Given the description of an element on the screen output the (x, y) to click on. 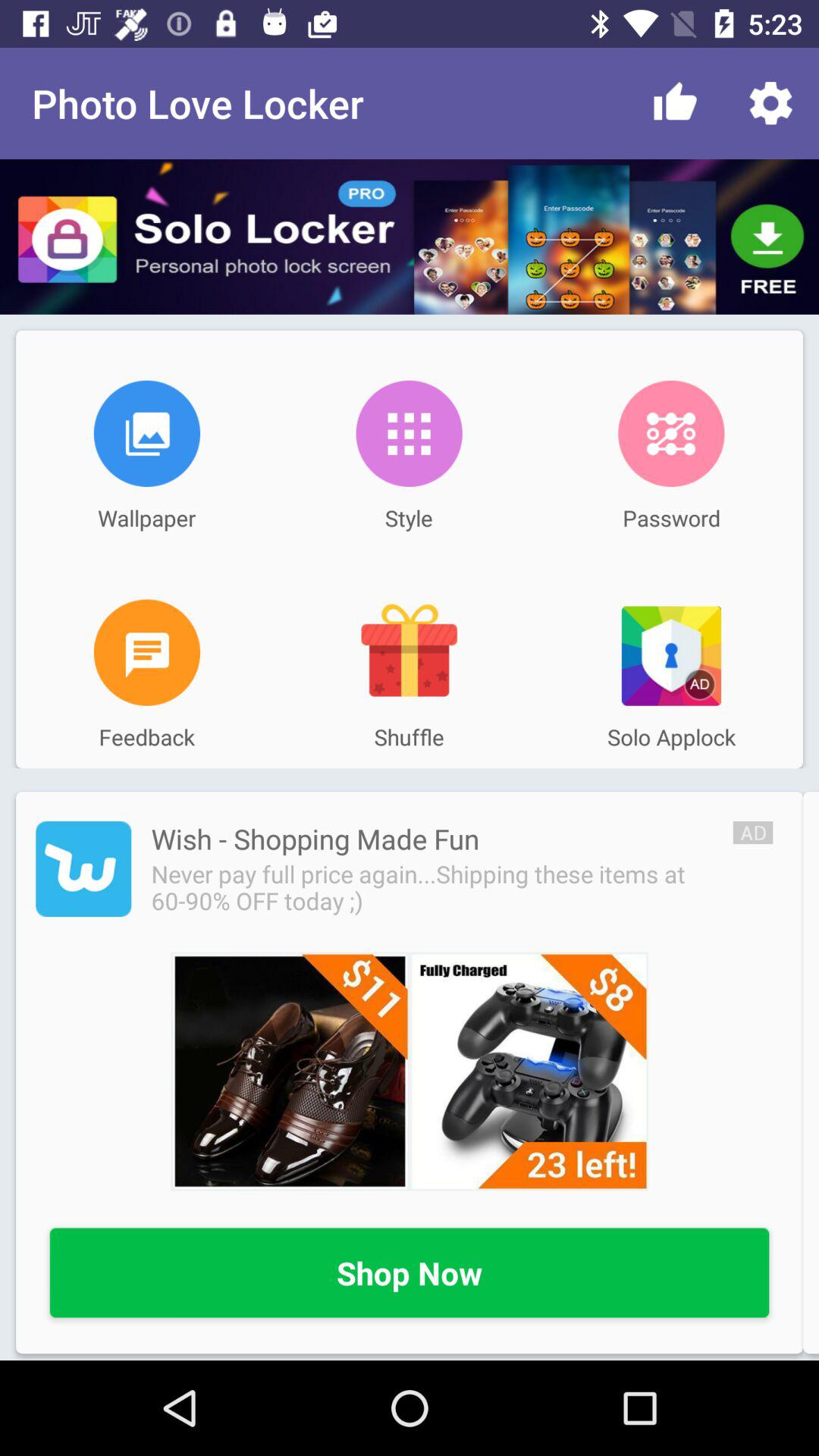
launch icon to the left of shuffle (146, 652)
